Given the description of an element on the screen output the (x, y) to click on. 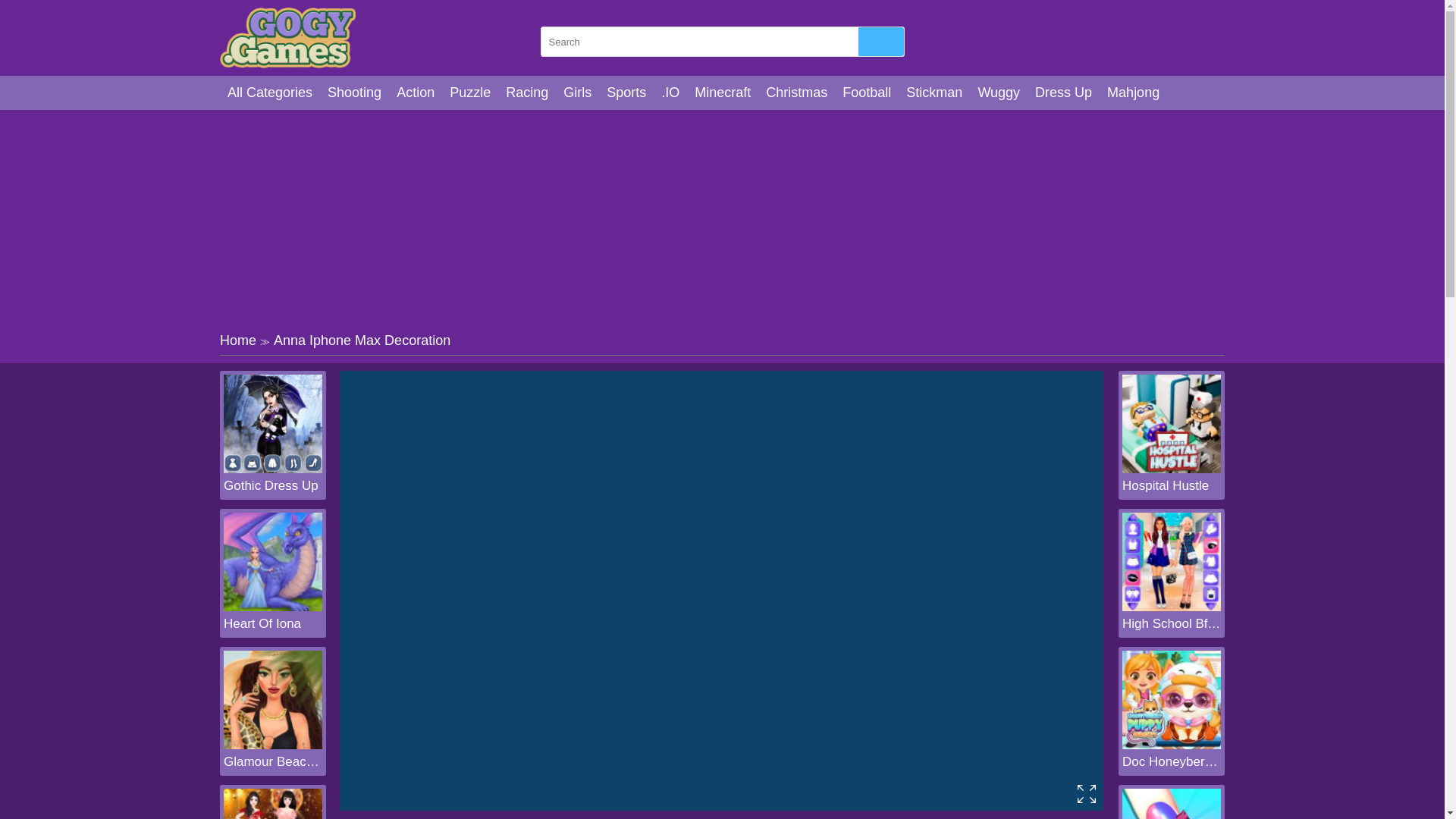
Puzzle (469, 92)
Dress Up (1063, 92)
Hospital Hustle (1171, 485)
Racing (526, 92)
Home (237, 340)
Dress Up (1063, 92)
Heart Of Iona (272, 623)
Christmas (796, 92)
Puzzle (469, 92)
.IO (670, 92)
